Given the description of an element on the screen output the (x, y) to click on. 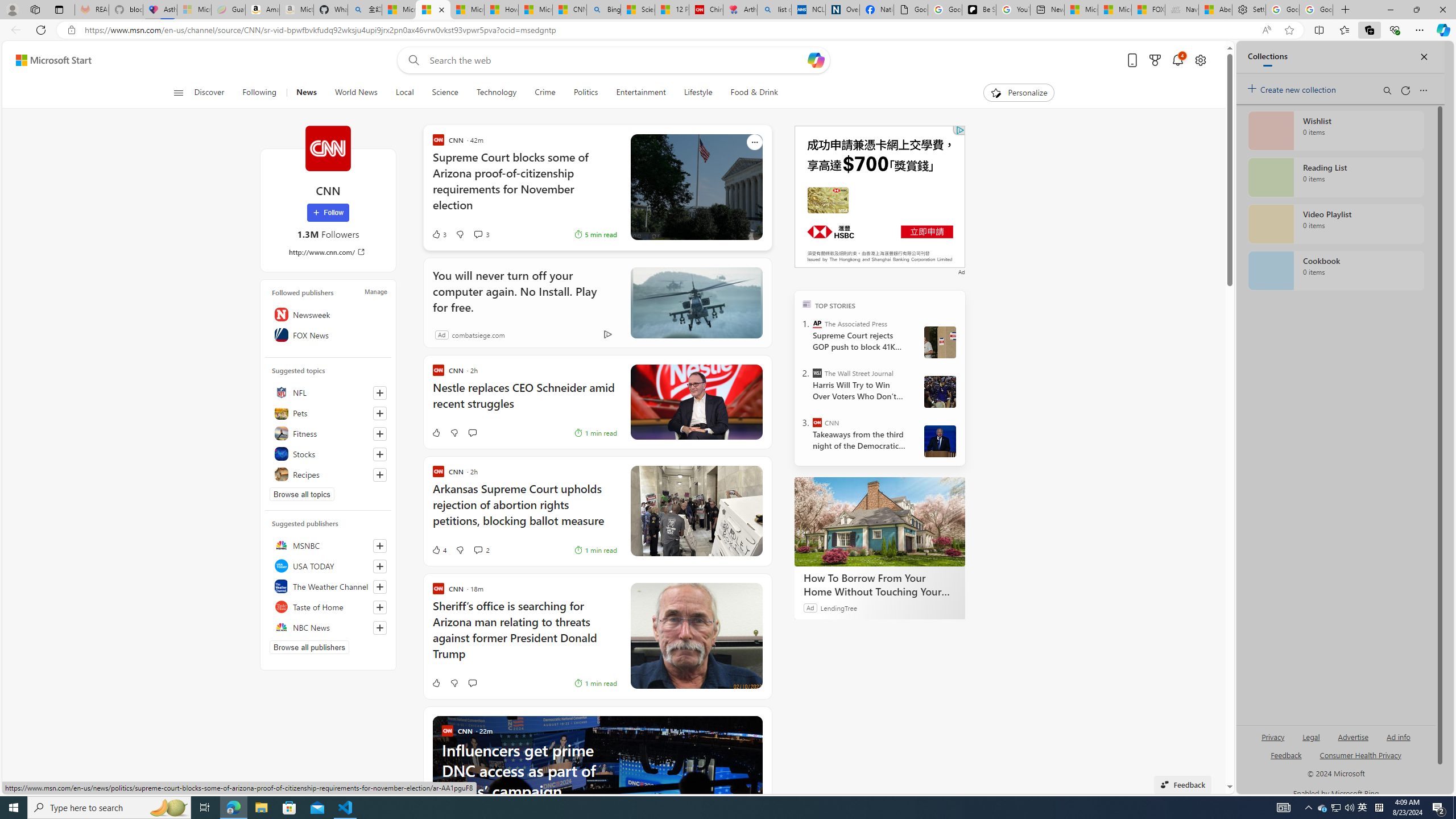
News (306, 92)
Food & Drink (753, 92)
Nestle replaces CEO Schneider amid recent struggles (524, 401)
Navy Quest (1182, 9)
Enter your search term (617, 59)
Start the conversation (472, 682)
Start the conversation (472, 682)
Asthma Inhalers: Names and Types (160, 9)
NFL (327, 392)
